Given the description of an element on the screen output the (x, y) to click on. 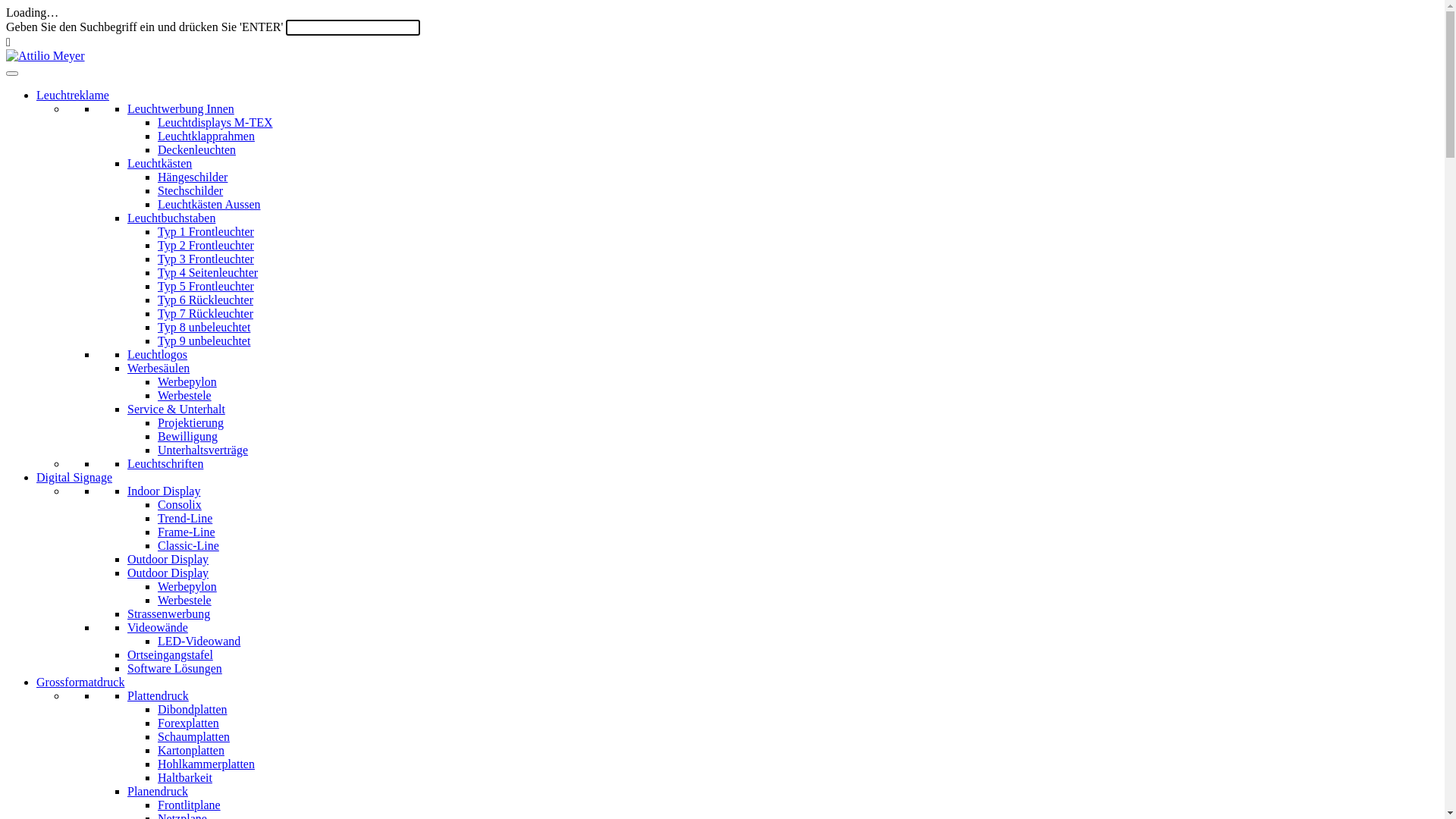
Strassenwerbung Element type: text (168, 613)
Haltbarkeit Element type: text (184, 777)
Ortseingangstafel Element type: text (170, 654)
Leuchtdisplays M-TEX Element type: text (215, 122)
Typ 3 Frontleuchter Element type: text (205, 258)
Frame-Line Element type: text (186, 531)
Classic-Line Element type: text (188, 545)
Projektierung Element type: text (190, 422)
Bewilligung Element type: text (187, 435)
Outdoor Display Element type: text (167, 572)
Leuchtschriften Element type: text (165, 463)
Indoor Display Element type: text (163, 490)
Werbestele Element type: text (184, 599)
Grossformatdruck Element type: text (80, 681)
Trend-Line Element type: text (184, 517)
Hohlkammerplatten Element type: text (205, 763)
Werbepylon Element type: text (186, 586)
Stechschilder Element type: text (189, 190)
Typ 1 Frontleuchter Element type: text (205, 231)
Typ 9 unbeleuchtet Element type: text (203, 340)
Service & Unterhalt Element type: text (176, 408)
Leuchtreklame Element type: text (72, 94)
Typ 5 Frontleuchter Element type: text (205, 285)
Typ 4 Seitenleuchter Element type: text (207, 272)
Consolix Element type: text (179, 504)
Planendruck Element type: text (157, 790)
Outdoor Display Element type: text (167, 558)
Plattendruck Element type: text (157, 695)
Leuchtwerbung Innen Element type: text (180, 108)
Schaumplatten Element type: text (193, 736)
Leuchtlogos Element type: text (157, 354)
Digital Signage Element type: text (74, 476)
Forexplatten Element type: text (188, 722)
Dibondplatten Element type: text (192, 708)
Typ 2 Frontleuchter Element type: text (205, 244)
LED-Videowand Element type: text (198, 640)
Kartonplatten Element type: text (190, 749)
Leuchtbuchstaben Element type: text (171, 217)
Werbestele Element type: text (184, 395)
Typ 8 unbeleuchtet Element type: text (203, 326)
Deckenleuchten Element type: text (196, 149)
Frontlitplane Element type: text (188, 804)
Werbepylon Element type: text (186, 381)
Leuchtklapprahmen Element type: text (205, 135)
